Given the description of an element on the screen output the (x, y) to click on. 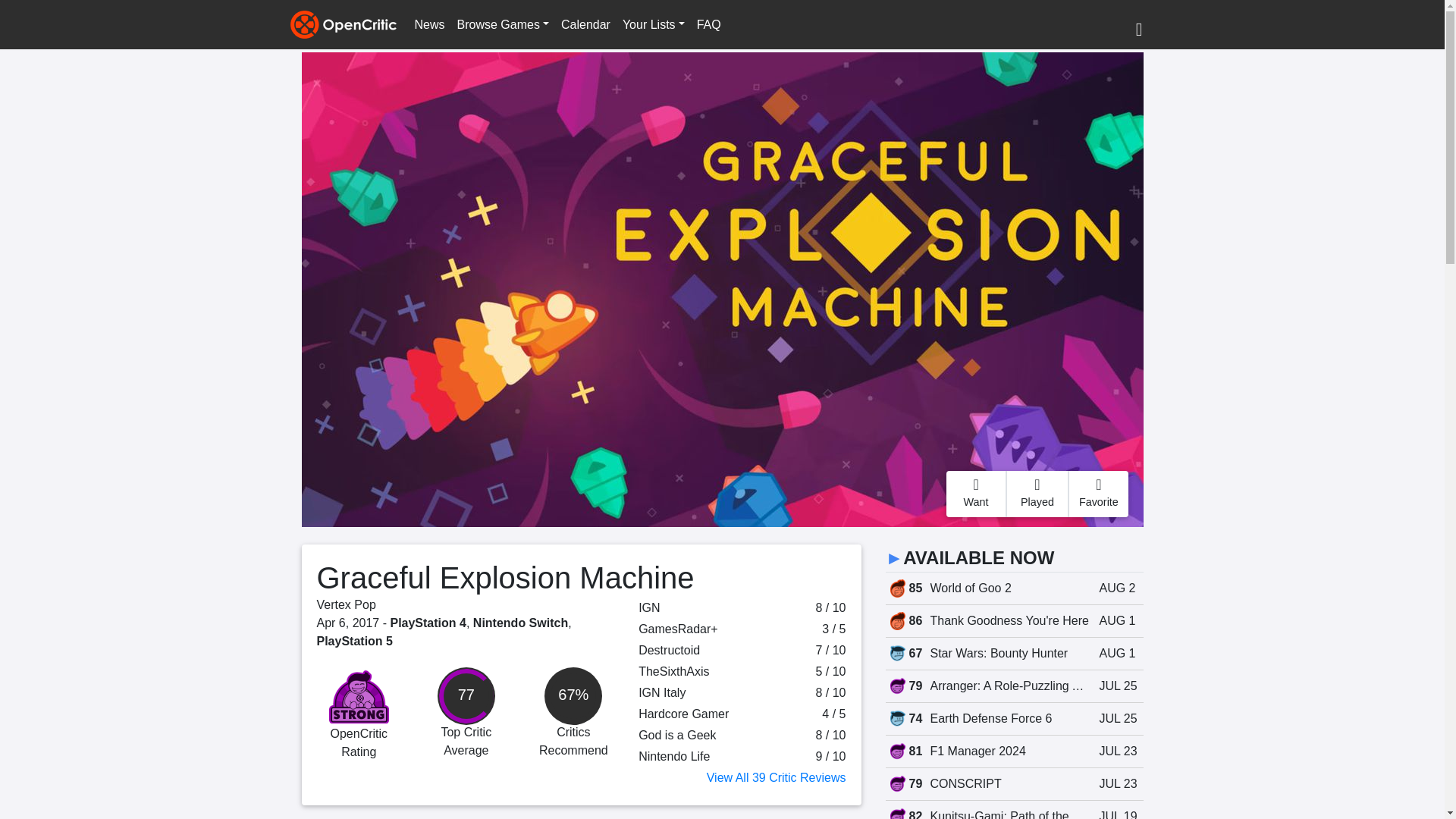
FAQ (708, 24)
News (428, 24)
Your Lists (652, 24)
Browse Games (502, 24)
View All 39 Critic Reviews (775, 777)
Calendar (584, 24)
